Given the description of an element on the screen output the (x, y) to click on. 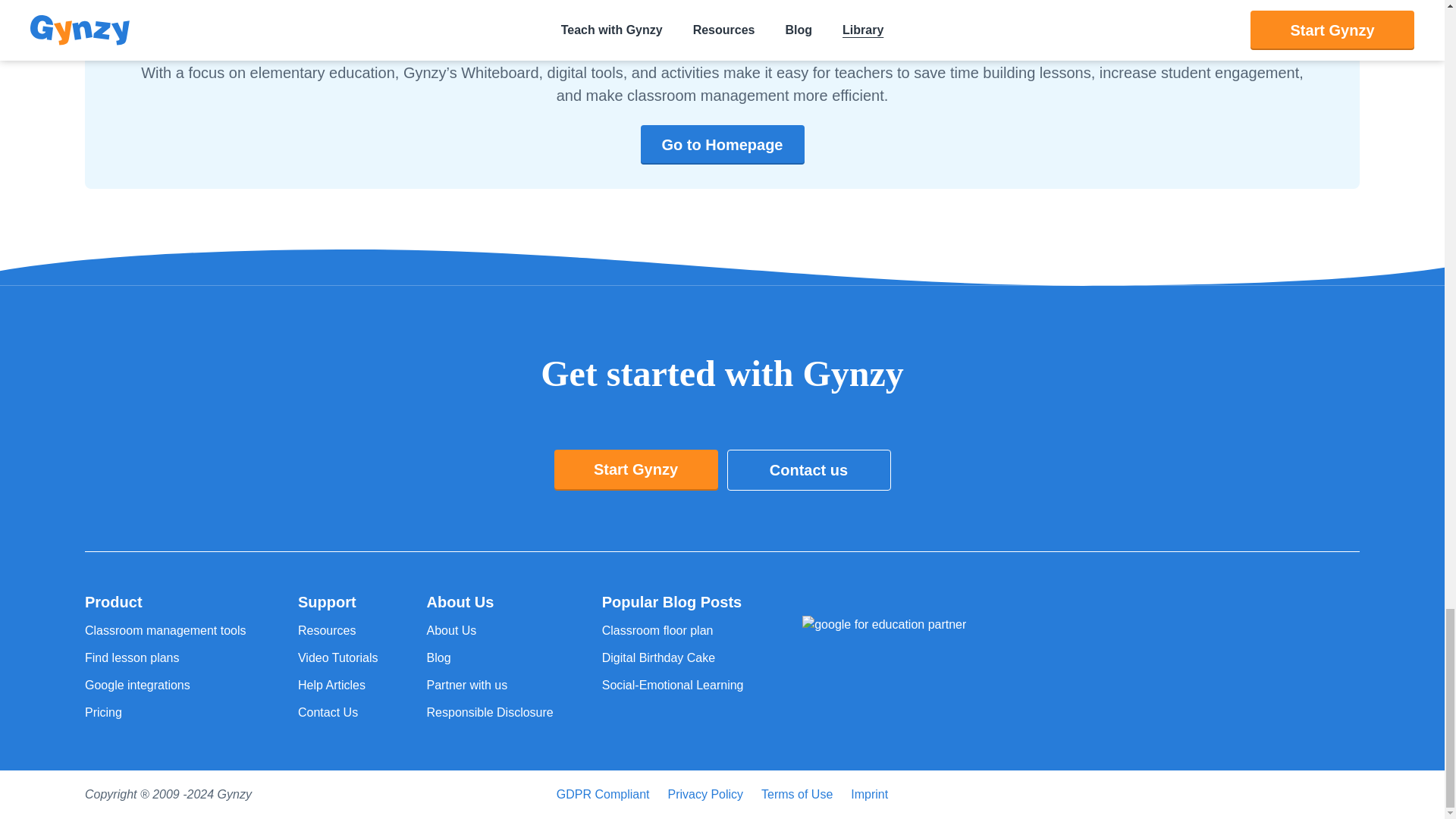
Find lesson plans (166, 658)
Google integrations (166, 685)
Classroom management tools  (166, 630)
Contact us (807, 469)
Go to Homepage (721, 144)
Support (338, 601)
Start Gynzy (635, 469)
Pricing (166, 712)
Resources (338, 630)
Product (166, 601)
Video Tutorials (338, 658)
